Given the description of an element on the screen output the (x, y) to click on. 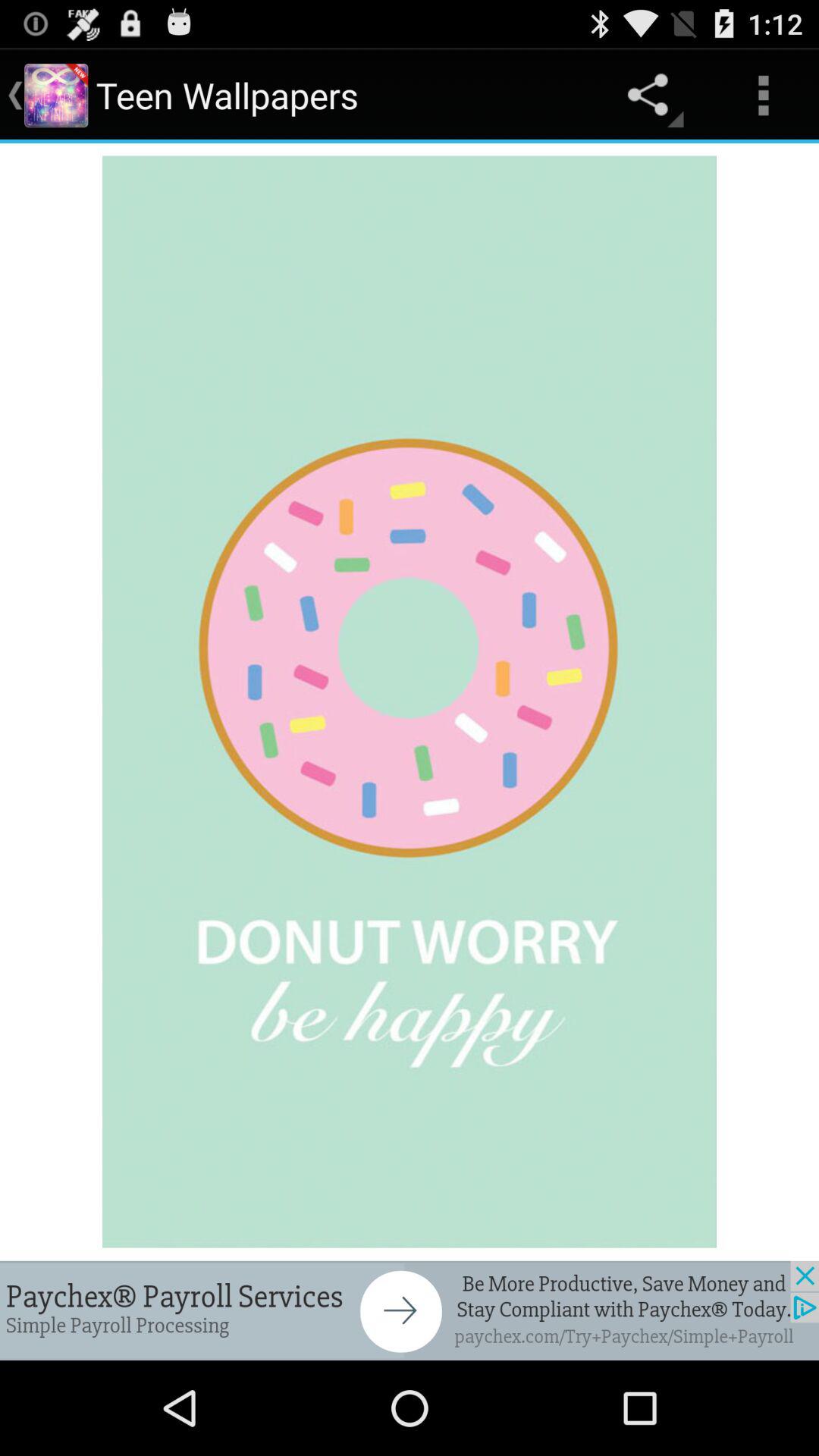
click advertisement (409, 1310)
